Given the description of an element on the screen output the (x, y) to click on. 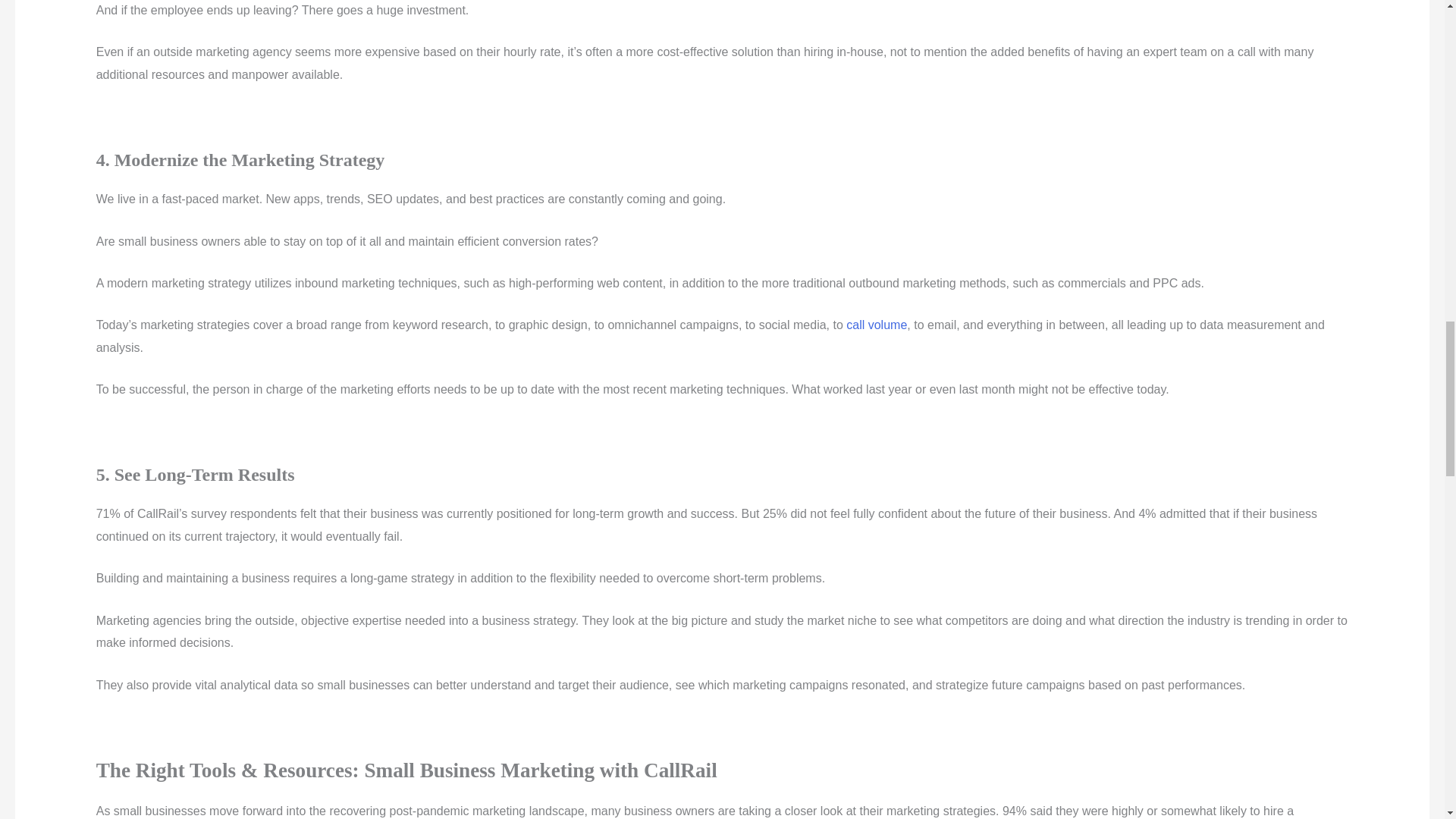
call volume (876, 324)
